Given the description of an element on the screen output the (x, y) to click on. 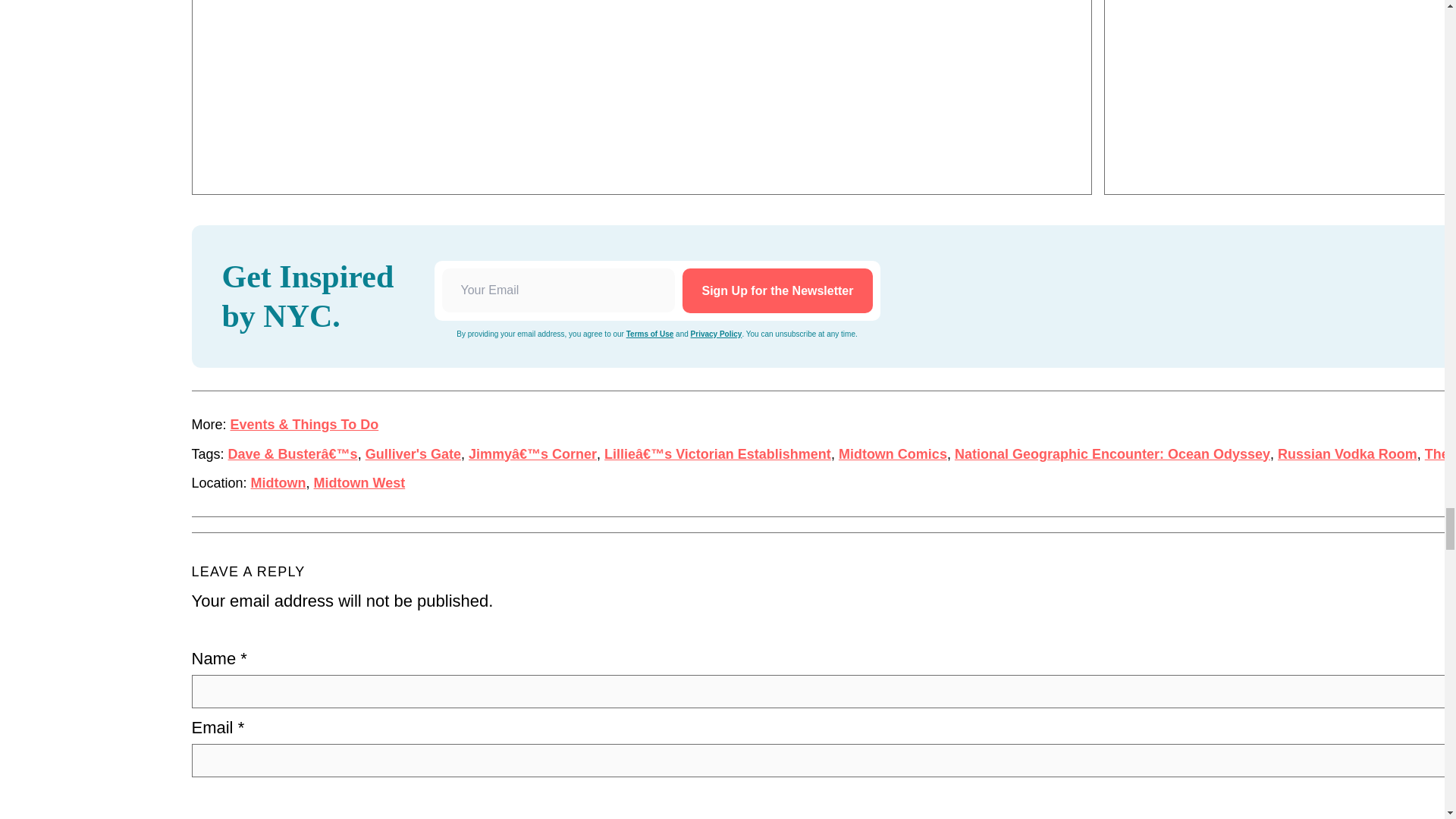
Sign Up for the Newsletter (777, 290)
